Given the description of an element on the screen output the (x, y) to click on. 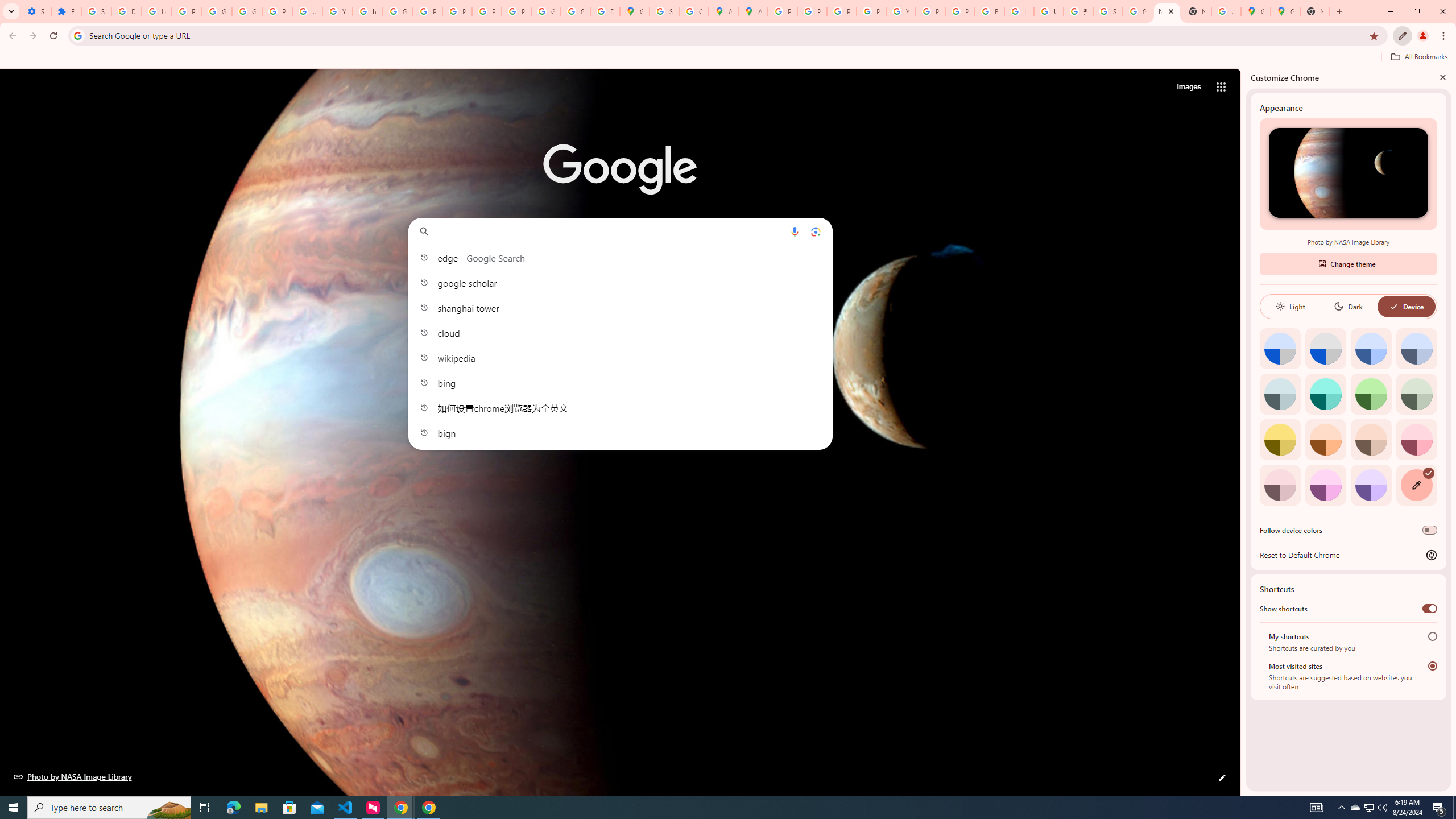
Blue (1371, 348)
Device (1406, 305)
Citron (1279, 439)
Violet (1371, 484)
Bookmarks (728, 58)
Search for Images  (1188, 87)
Orange (1325, 439)
